Given the description of an element on the screen output the (x, y) to click on. 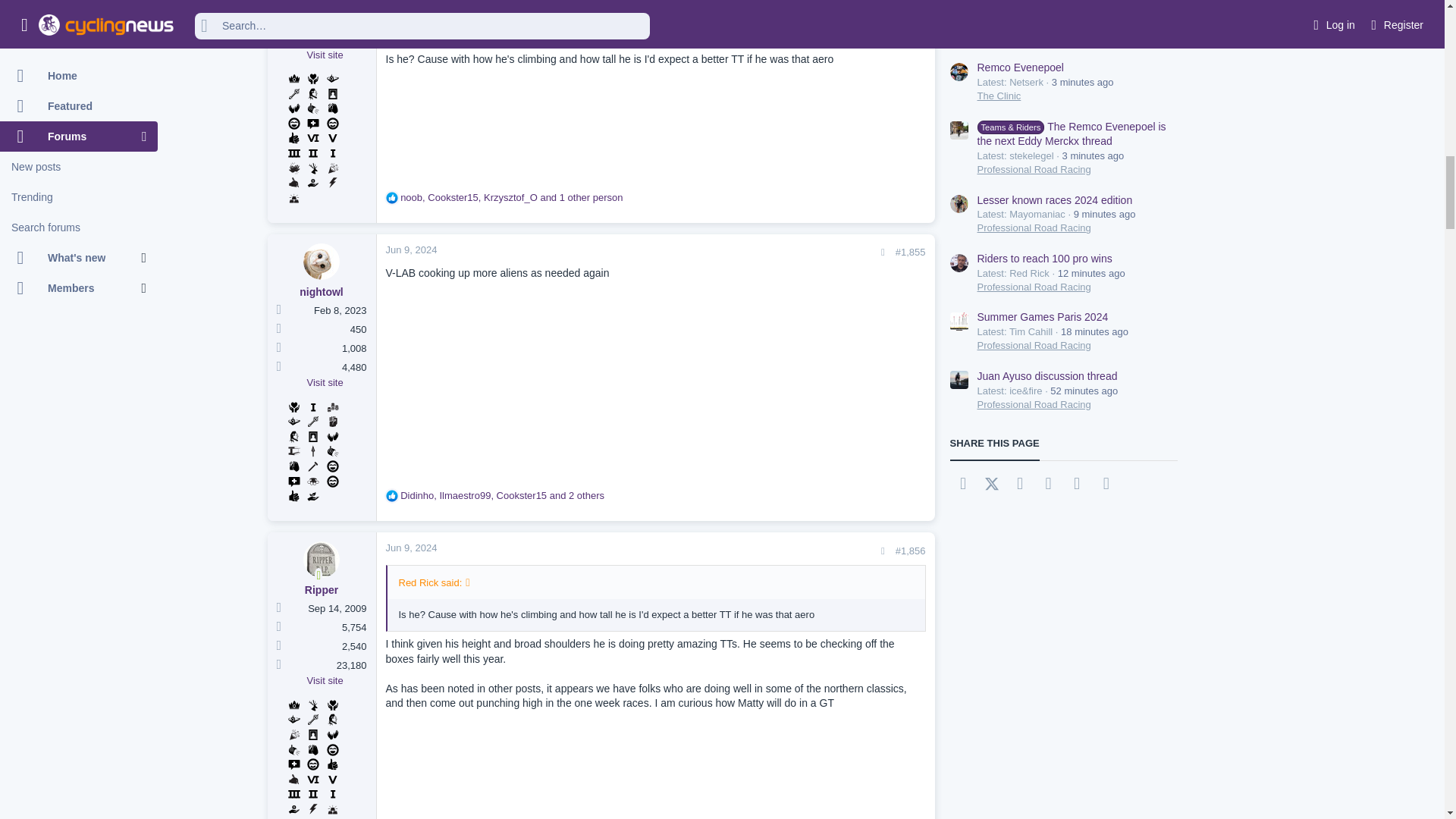
Like (391, 495)
Jun 9, 2024 at 6:15 PM (410, 547)
Like (391, 197)
Jun 9, 2024 at 4:51 PM (410, 249)
